Given the description of an element on the screen output the (x, y) to click on. 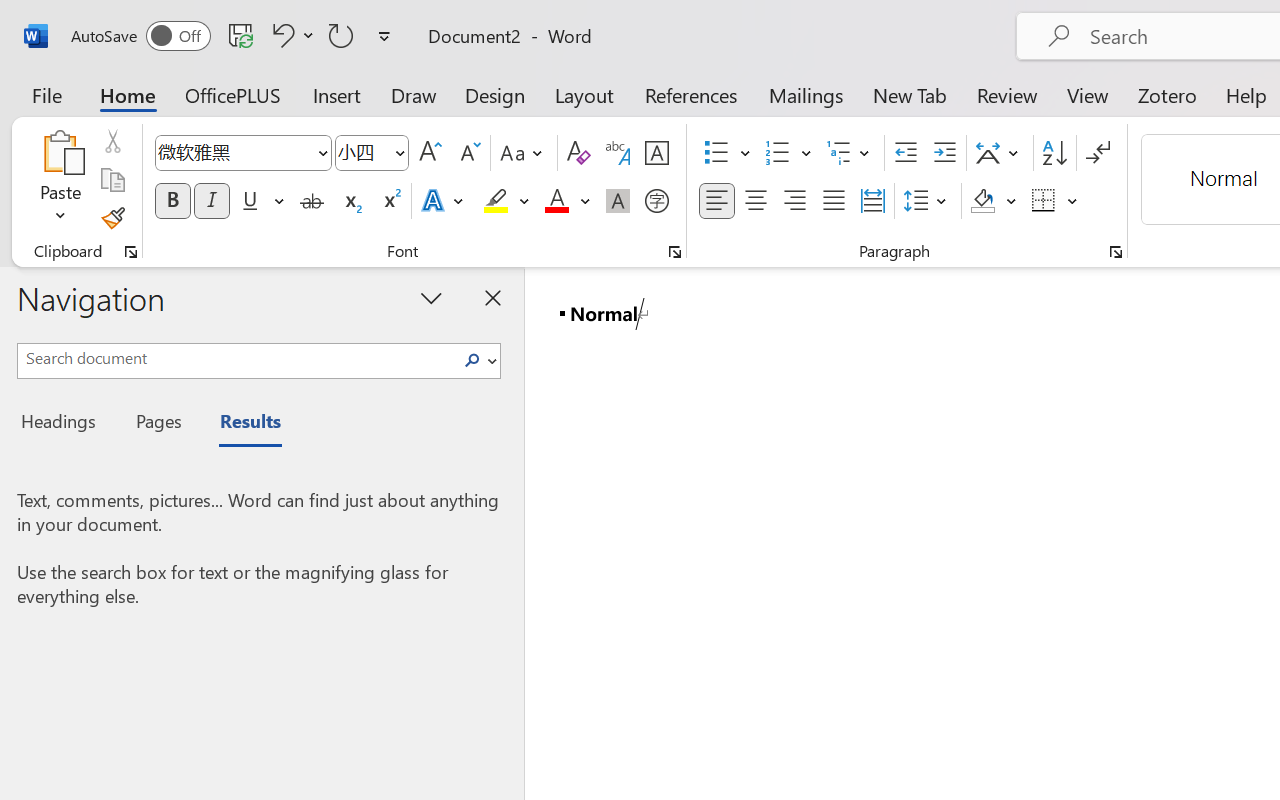
Align Left (716, 201)
Justify (834, 201)
Search document (236, 358)
Change Case (524, 153)
Review (1007, 94)
Show/Hide Editing Marks (1098, 153)
View (1087, 94)
Layout (584, 94)
Borders (1055, 201)
Multilevel List (850, 153)
Underline (261, 201)
Character Border (656, 153)
Undo Style (290, 35)
Mailings (806, 94)
Search (478, 360)
